Given the description of an element on the screen output the (x, y) to click on. 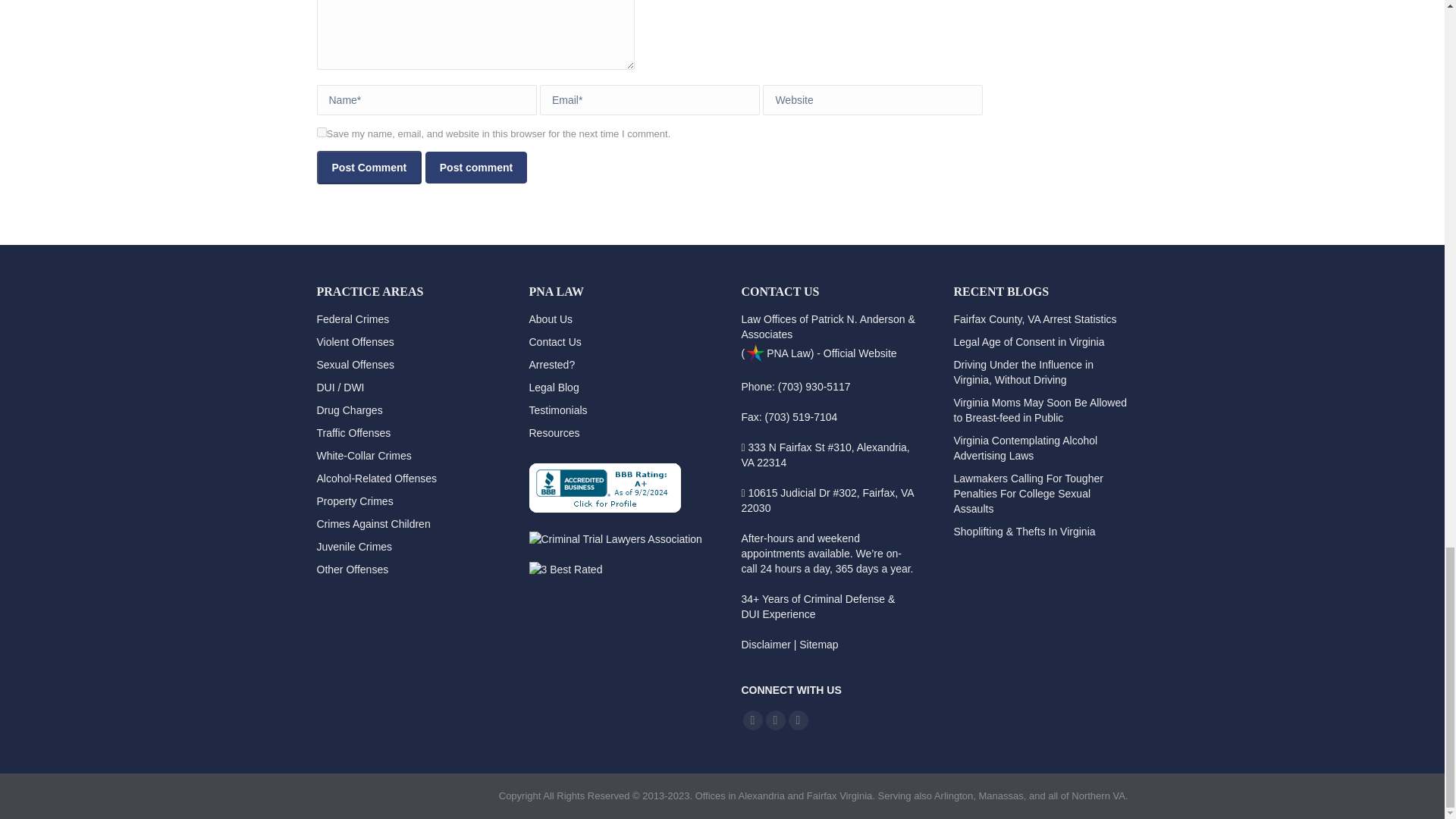
yes (321, 132)
Twitter page opens in new window (775, 720)
Post Comment (369, 167)
Facebook page opens in new window (752, 720)
Linkedin page opens in new window (798, 720)
